Given the description of an element on the screen output the (x, y) to click on. 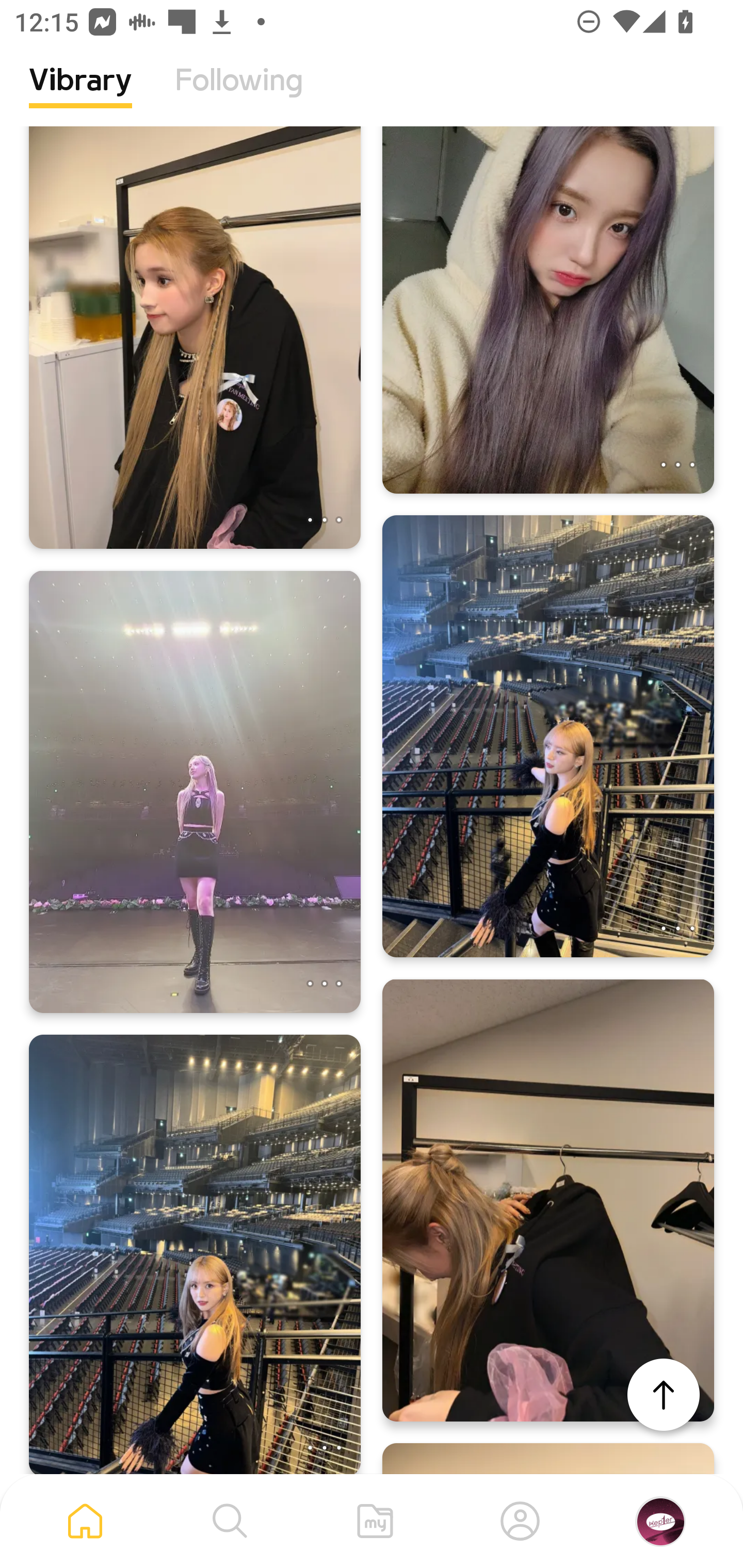
Vibrary (80, 95)
Following (239, 95)
